Given the description of an element on the screen output the (x, y) to click on. 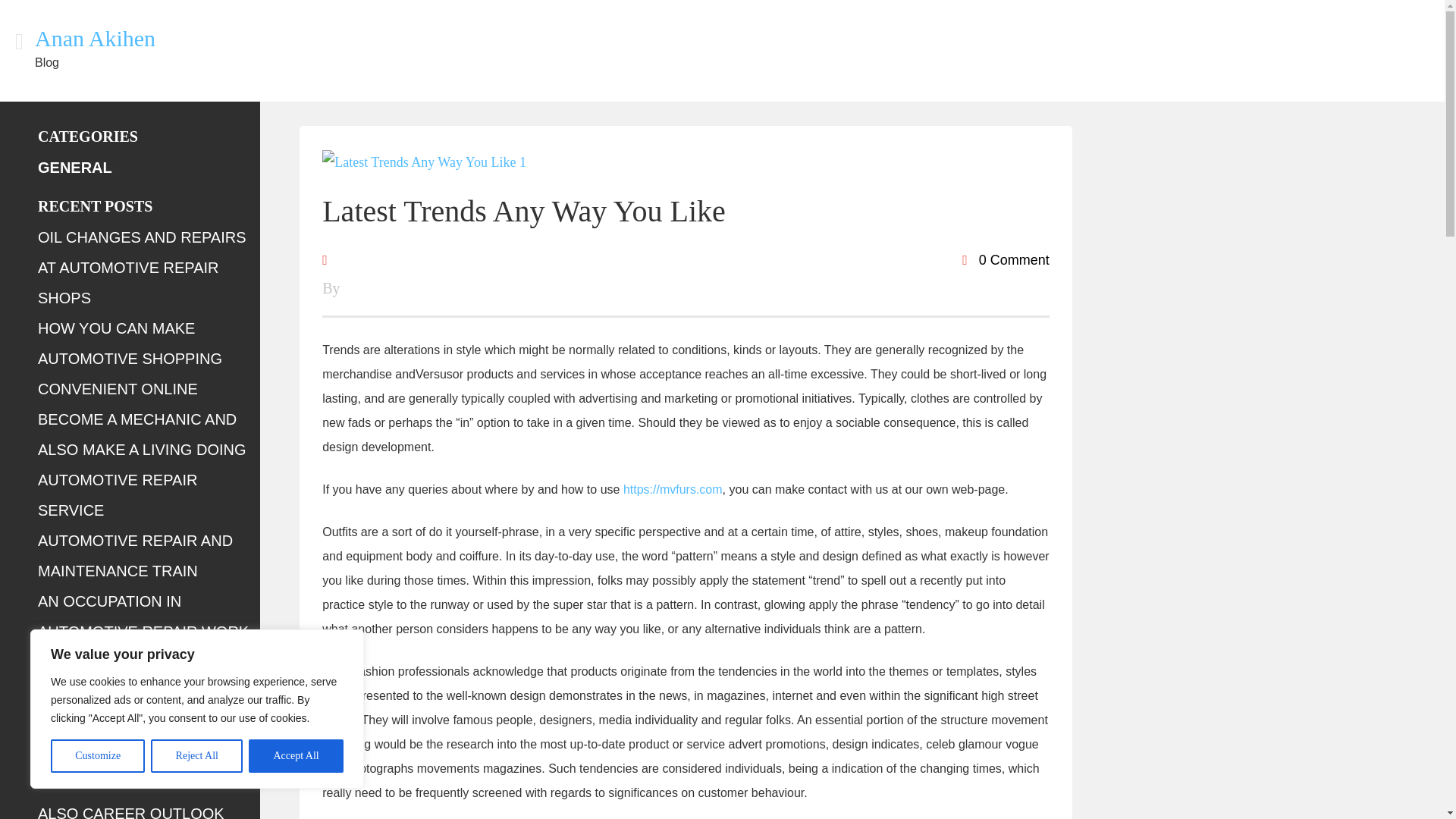
Customize (97, 756)
Reject All (197, 756)
HOW YOU CAN MAKE AUTOMOTIVE SHOPPING CONVENIENT ONLINE (129, 358)
0 Comment (1005, 259)
GENERAL (74, 167)
Anan Akihen (94, 37)
Accept All (295, 756)
OIL CHANGES AND REPAIRS AT AUTOMOTIVE REPAIR SHOPS (141, 267)
